Given the description of an element on the screen output the (x, y) to click on. 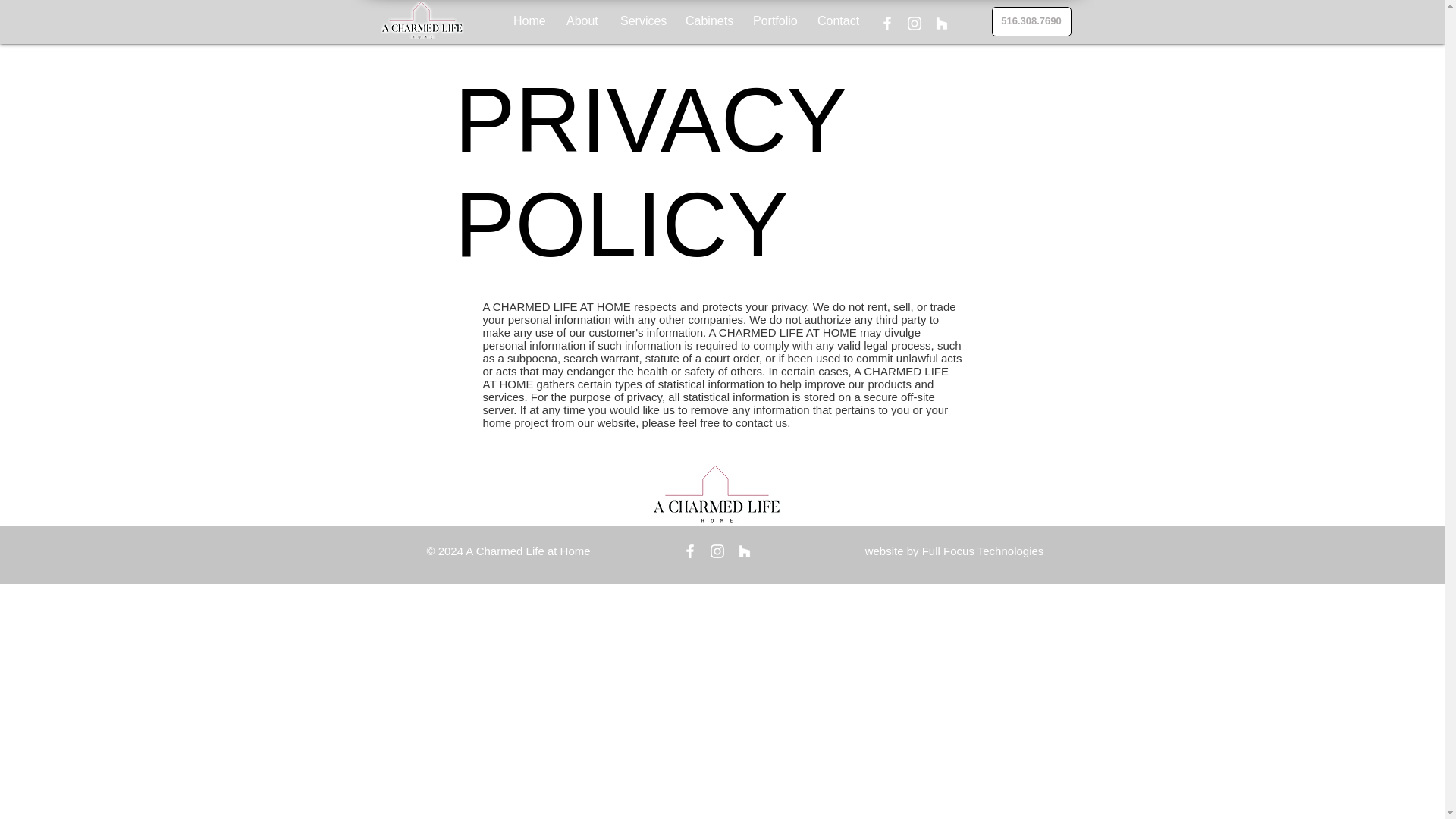
Services (641, 21)
Home (528, 21)
Portfolio (773, 21)
website by Full Focus Technologies (953, 550)
About (581, 21)
516.308.7690 (1031, 21)
Cabinets (707, 21)
Charmed Life Home Logo (422, 20)
Contact (837, 21)
